Given the description of an element on the screen output the (x, y) to click on. 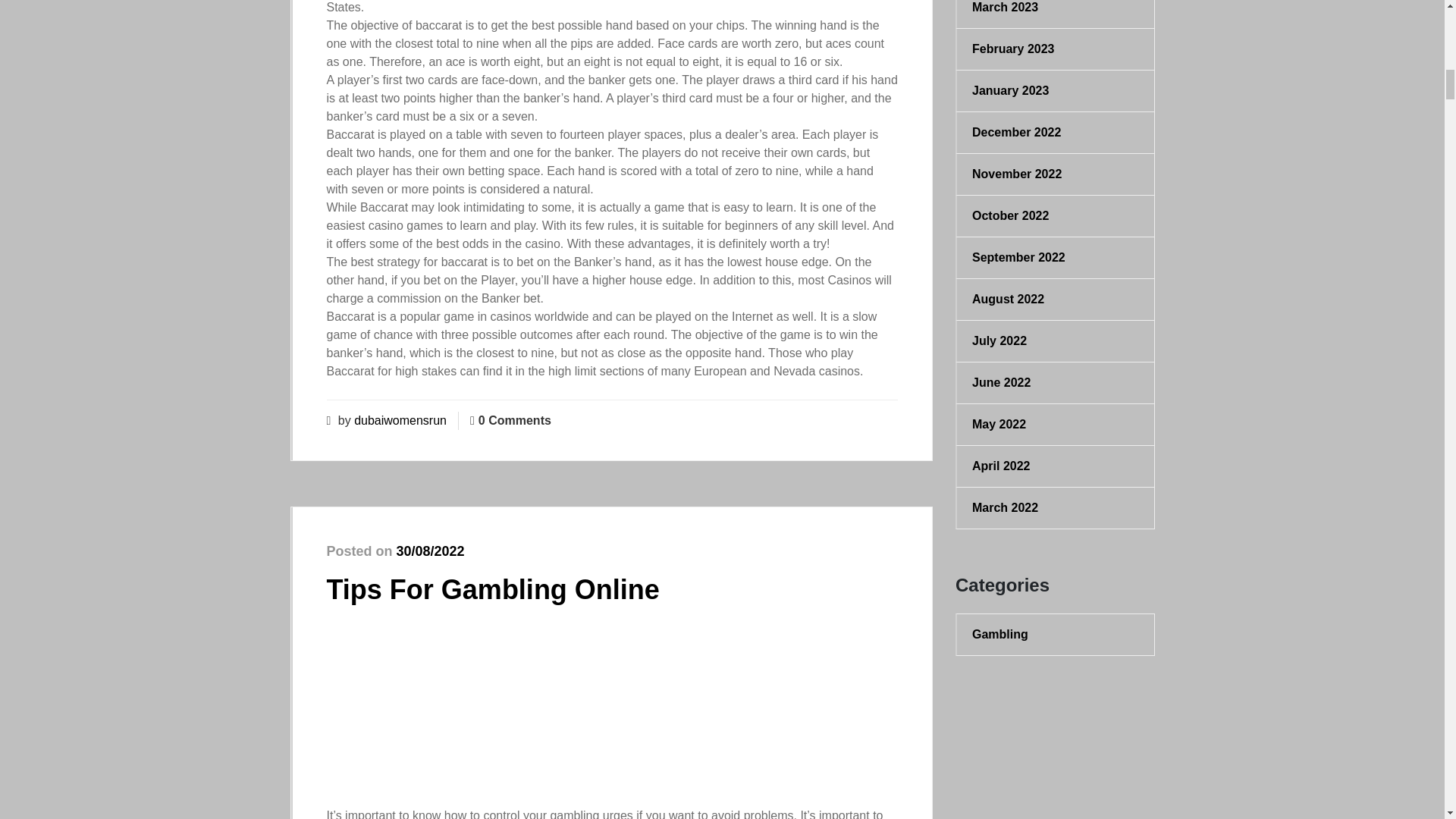
dubaiwomensrun (399, 420)
Tips For Gambling Online (492, 589)
